Given the description of an element on the screen output the (x, y) to click on. 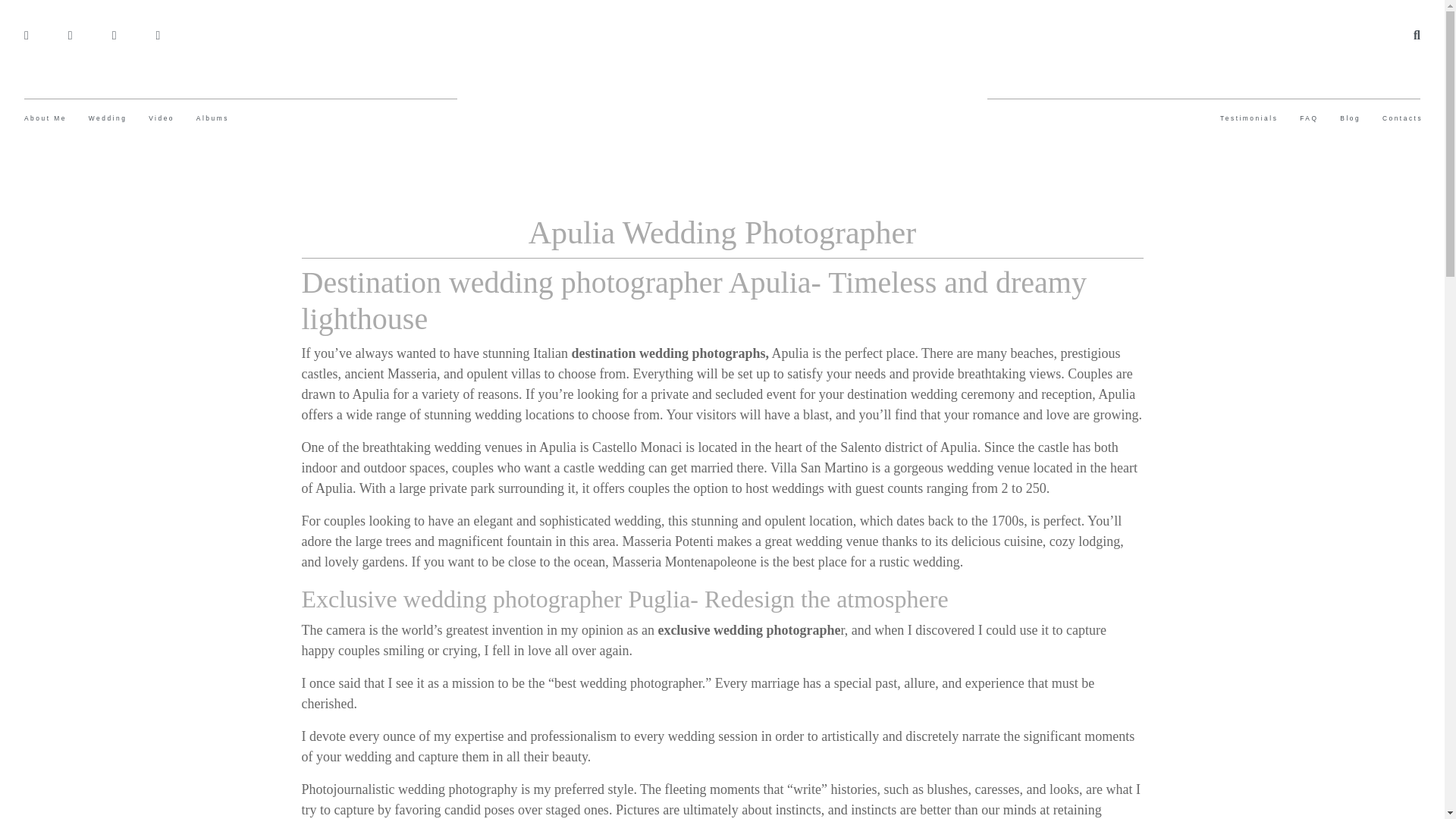
Testimonials (1249, 118)
Video (161, 118)
Blog (1349, 118)
FAQ (1308, 118)
Wedding (108, 118)
About Me (45, 118)
Contacts (1401, 118)
Albums (212, 118)
